Given the description of an element on the screen output the (x, y) to click on. 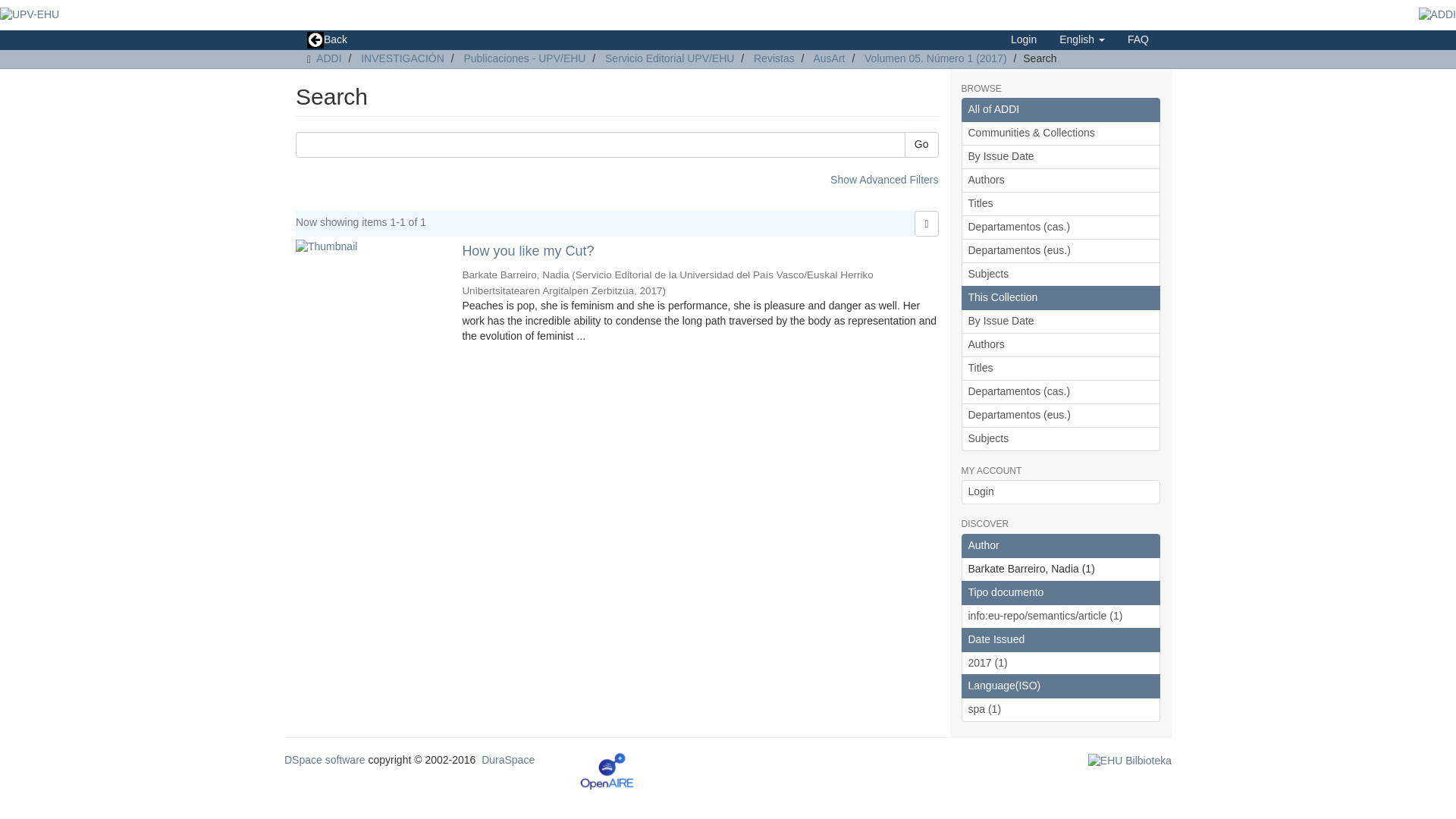
EHU Biblioteka (1129, 759)
English  (1082, 39)
Go (921, 144)
Show Advanced Filters (883, 179)
OpenAIRE (606, 770)
Revistas (774, 58)
Login (1023, 39)
FAQ (1138, 39)
ADDI (327, 58)
Back (326, 39)
AusArt (828, 58)
